Given the description of an element on the screen output the (x, y) to click on. 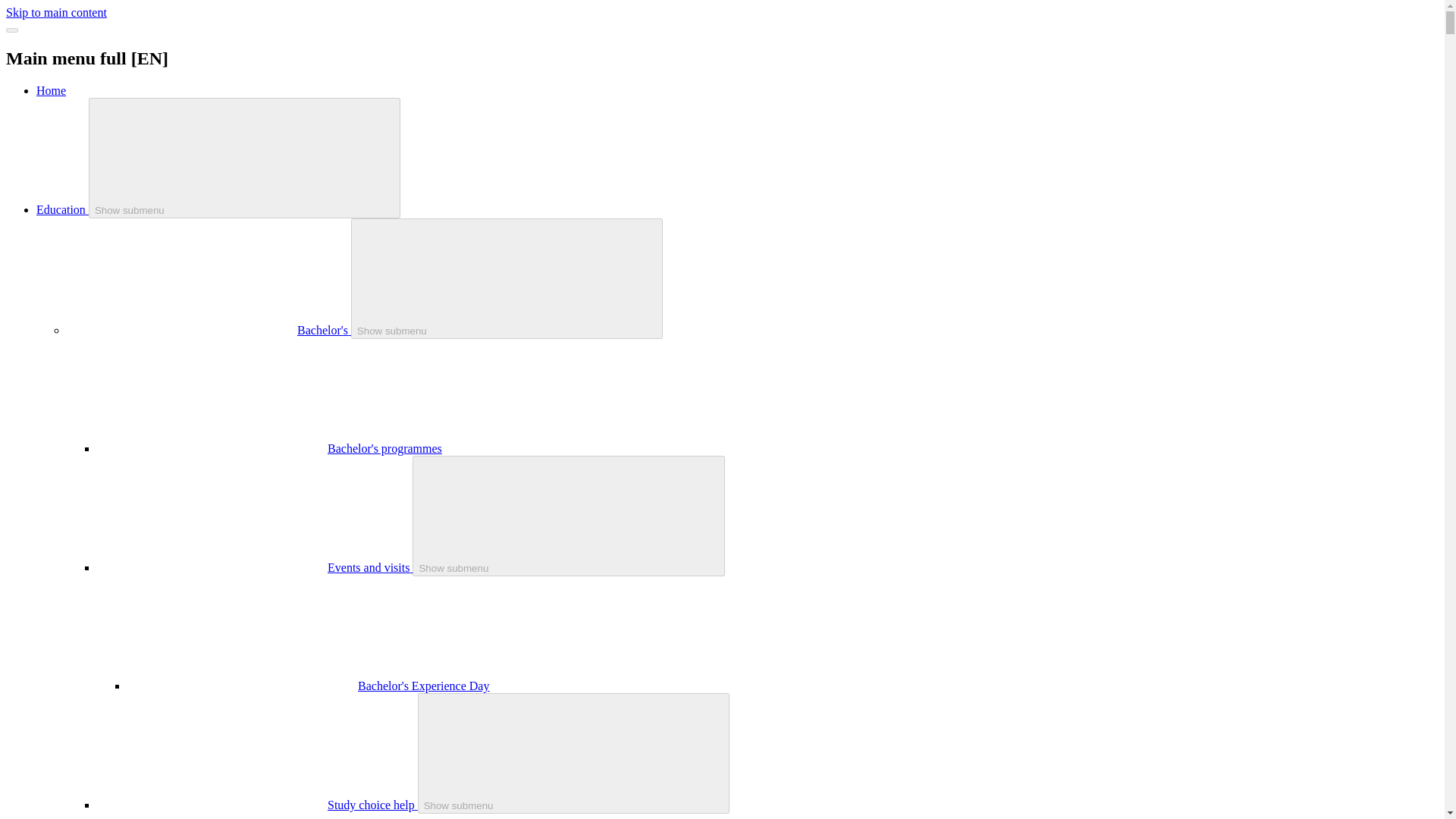
Skip to main content (55, 11)
Bachelor's Experience Day (423, 685)
Show submenu (244, 157)
Events and visits (369, 567)
Education (62, 209)
Home (50, 90)
Bachelor's (323, 329)
Bachelor's programmes (384, 448)
Study choice help (372, 804)
Show submenu (506, 278)
Show submenu (573, 753)
Show submenu (568, 515)
